Given the description of an element on the screen output the (x, y) to click on. 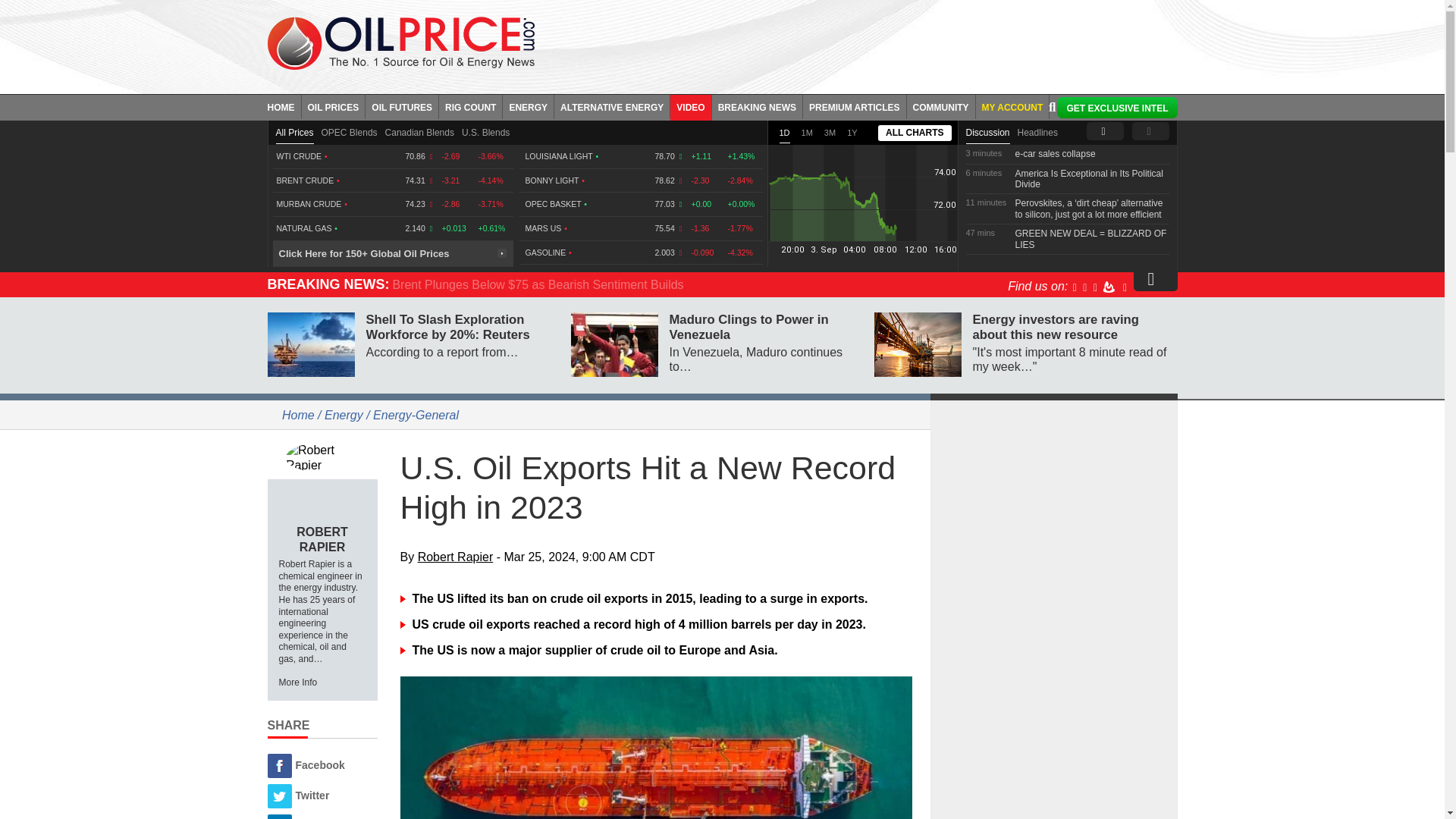
MY ACCOUNT (1012, 106)
ALTERNATIVE ENERGY (611, 106)
OIL FUTURES (402, 106)
HOME (283, 106)
COMMUNITY (941, 106)
VIDEO (690, 106)
OIL PRICES (333, 106)
Robert Rapier (321, 457)
ENERGY (528, 106)
RIG COUNT (470, 106)
